Given the description of an element on the screen output the (x, y) to click on. 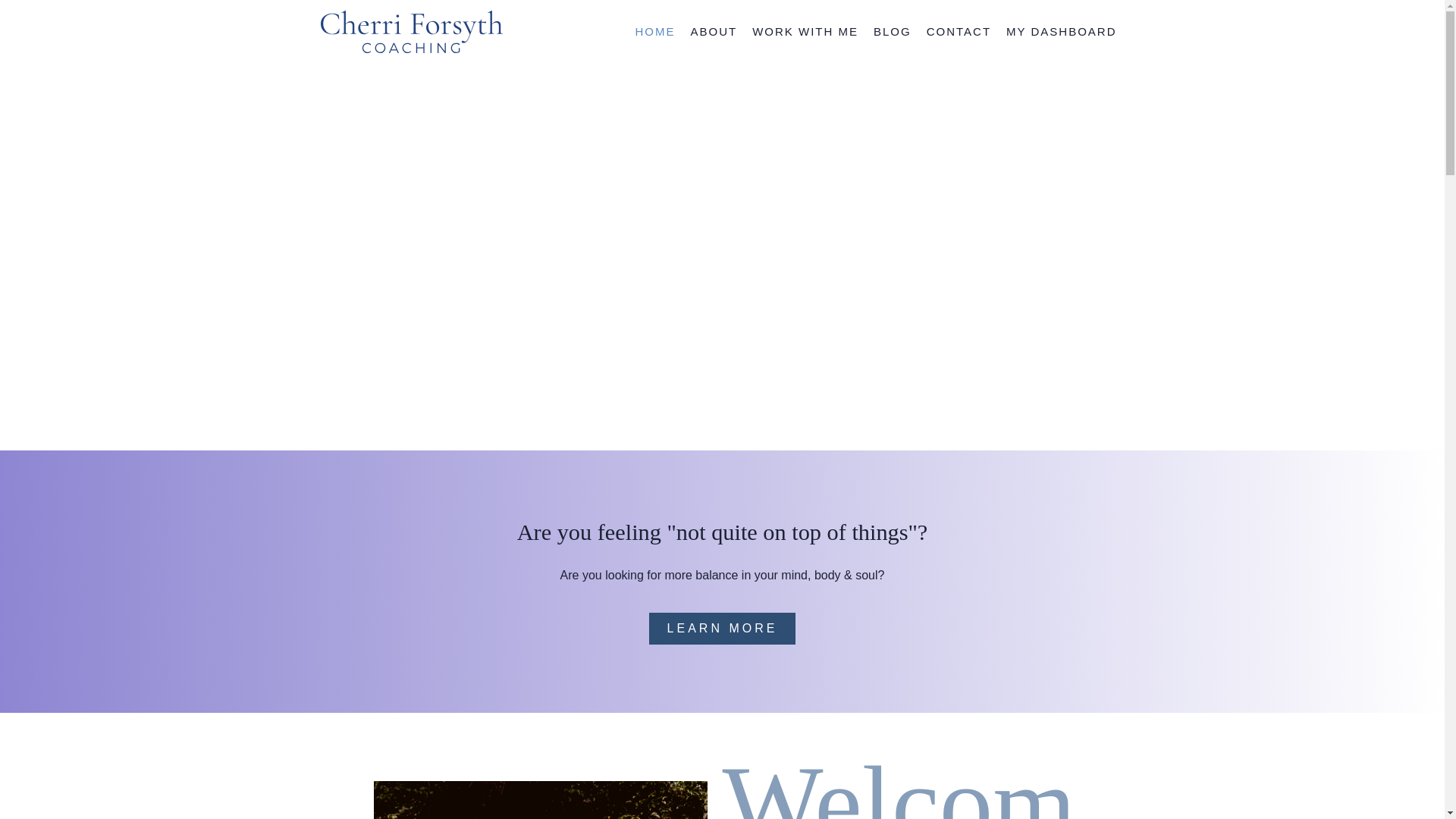
LEARN MORE (722, 628)
BLOG (892, 31)
ABOUT (713, 31)
WORK WITH ME (805, 31)
CONTACT (958, 31)
HOME (654, 31)
MY DASHBOARD (1061, 31)
logo (411, 31)
